Given the description of an element on the screen output the (x, y) to click on. 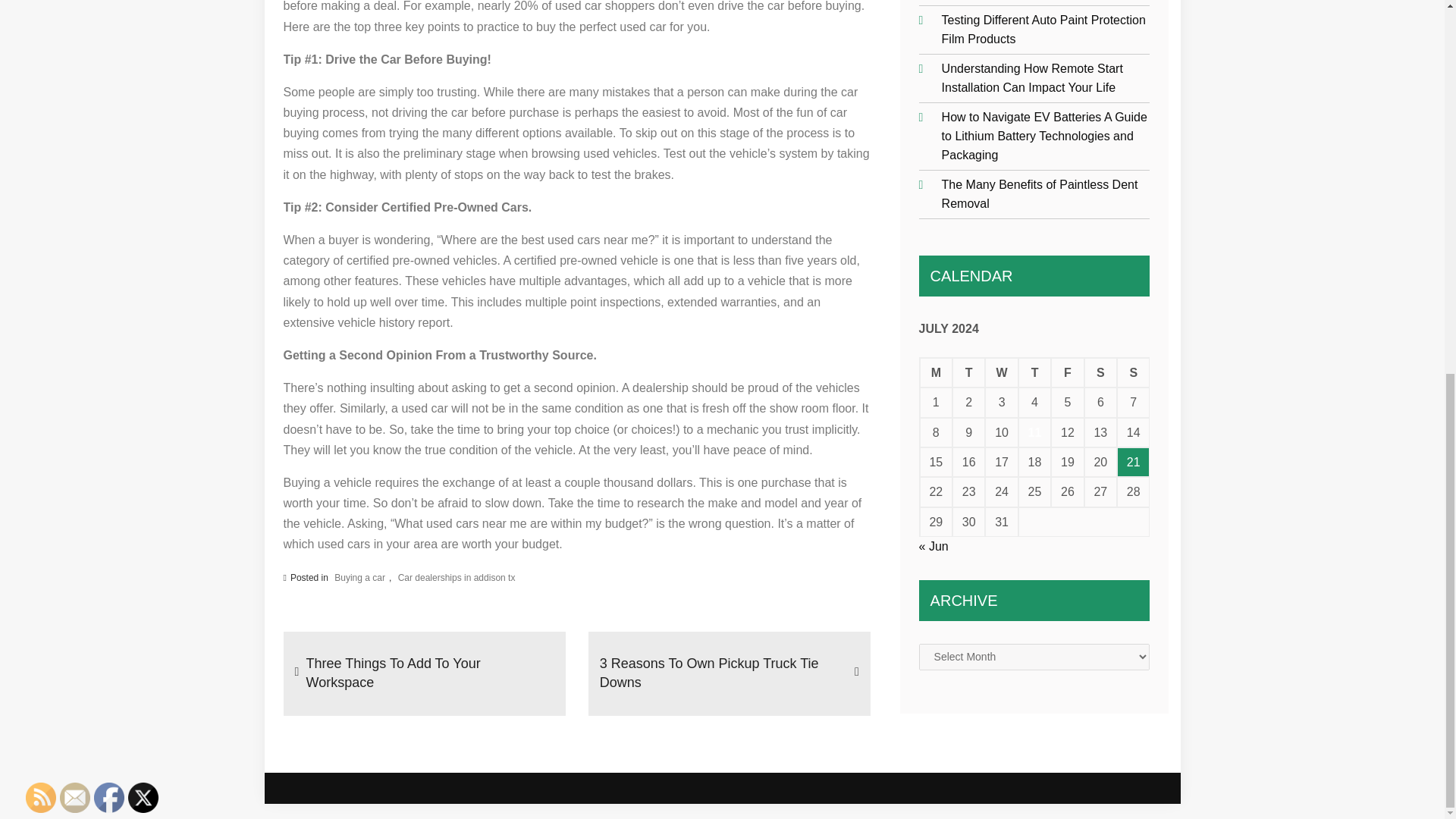
Tuesday (968, 372)
Facebook (108, 797)
RSS (41, 797)
Twitter (143, 797)
Three Things To Add To Your Workspace (429, 673)
Buying a car (359, 577)
11 (1034, 432)
Wednesday (1001, 372)
Monday (936, 372)
Friday (1067, 372)
Saturday (1100, 372)
The Many Benefits of Paintless Dent Removal (1040, 193)
Sunday (1133, 372)
